Given the description of an element on the screen output the (x, y) to click on. 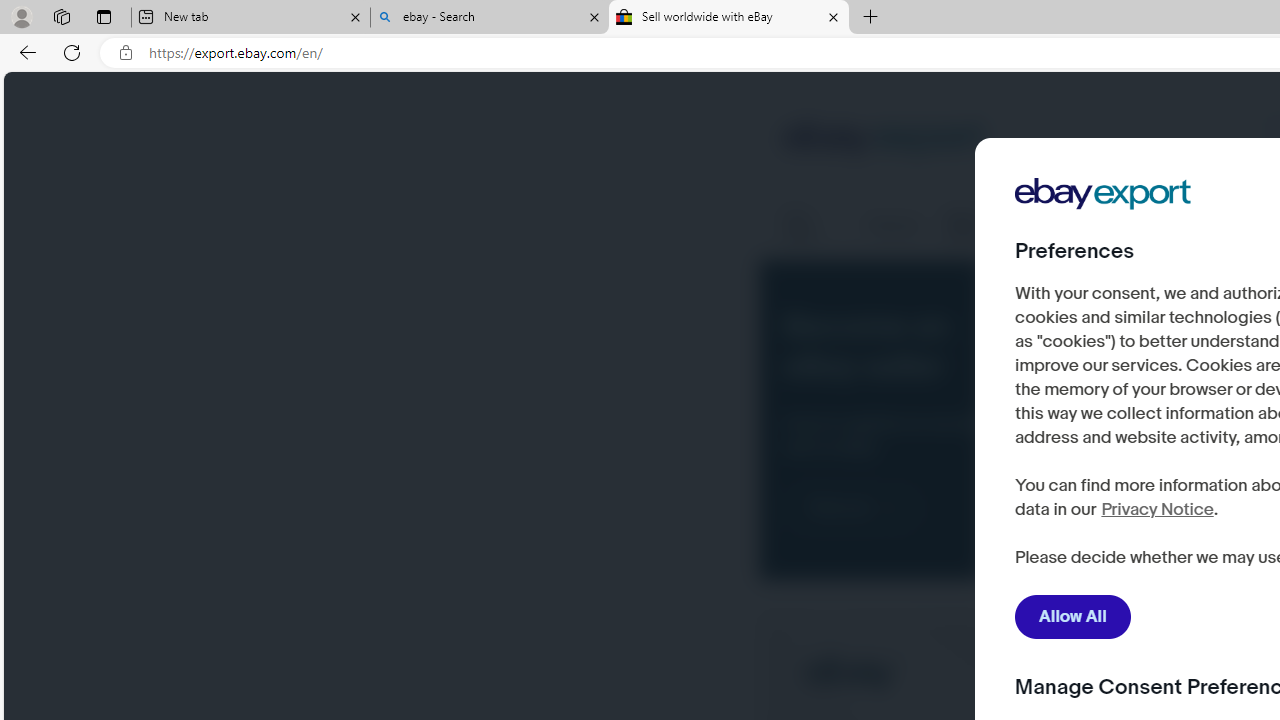
ebay - Search (490, 17)
Sell worldwide with eBay (729, 17)
here (1109, 500)
Class: header__logo (883, 139)
Shipping (893, 226)
First steps (812, 225)
Customise my choices (1135, 559)
Allow All (1073, 617)
Class: btn__arrow (890, 507)
